Given the description of an element on the screen output the (x, y) to click on. 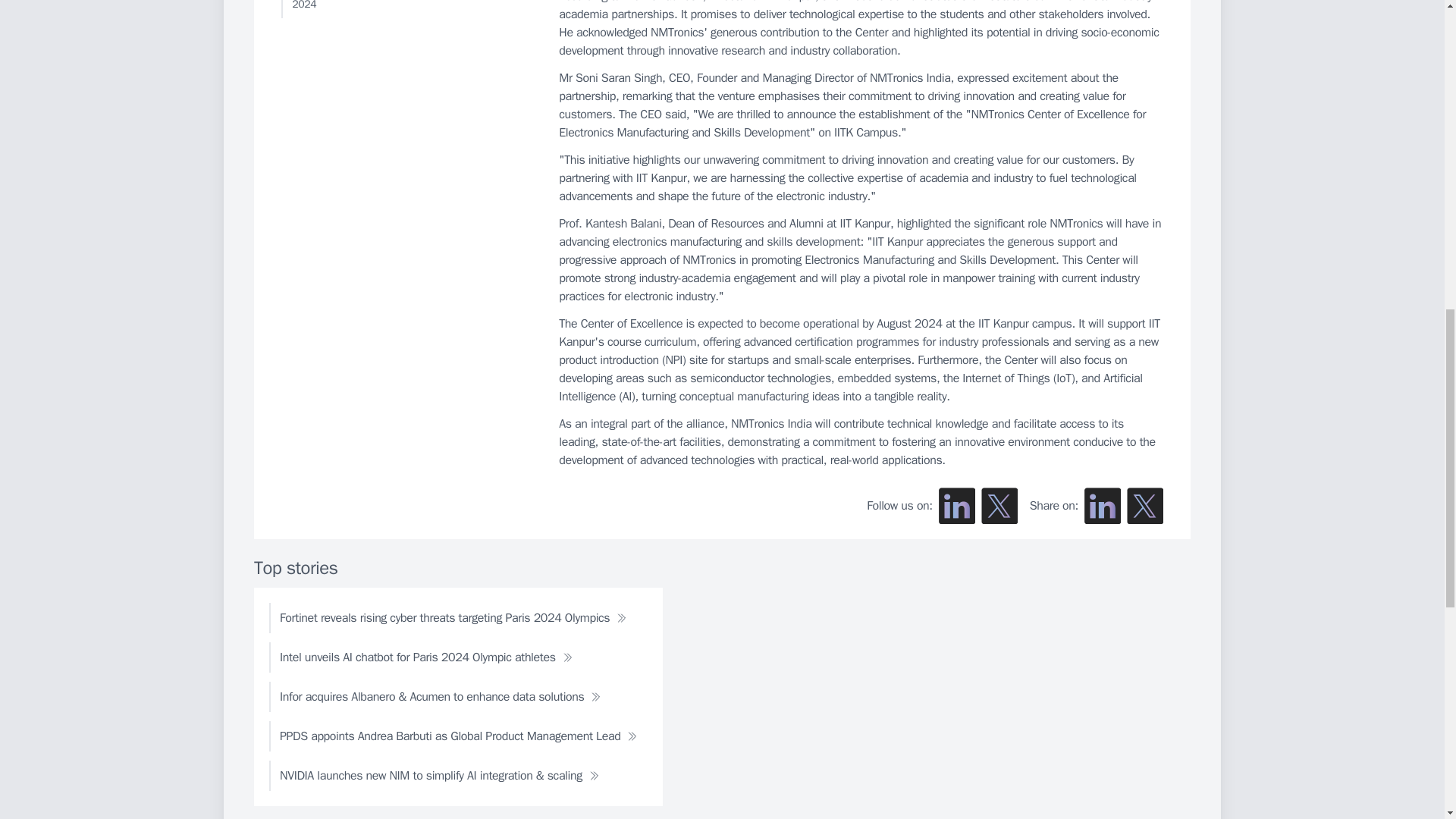
Intel unveils AI chatbot for Paris 2024 Olympic athletes (426, 657)
Report reveals surge in advanced DDoS attacks for 2024 (406, 9)
